Given the description of an element on the screen output the (x, y) to click on. 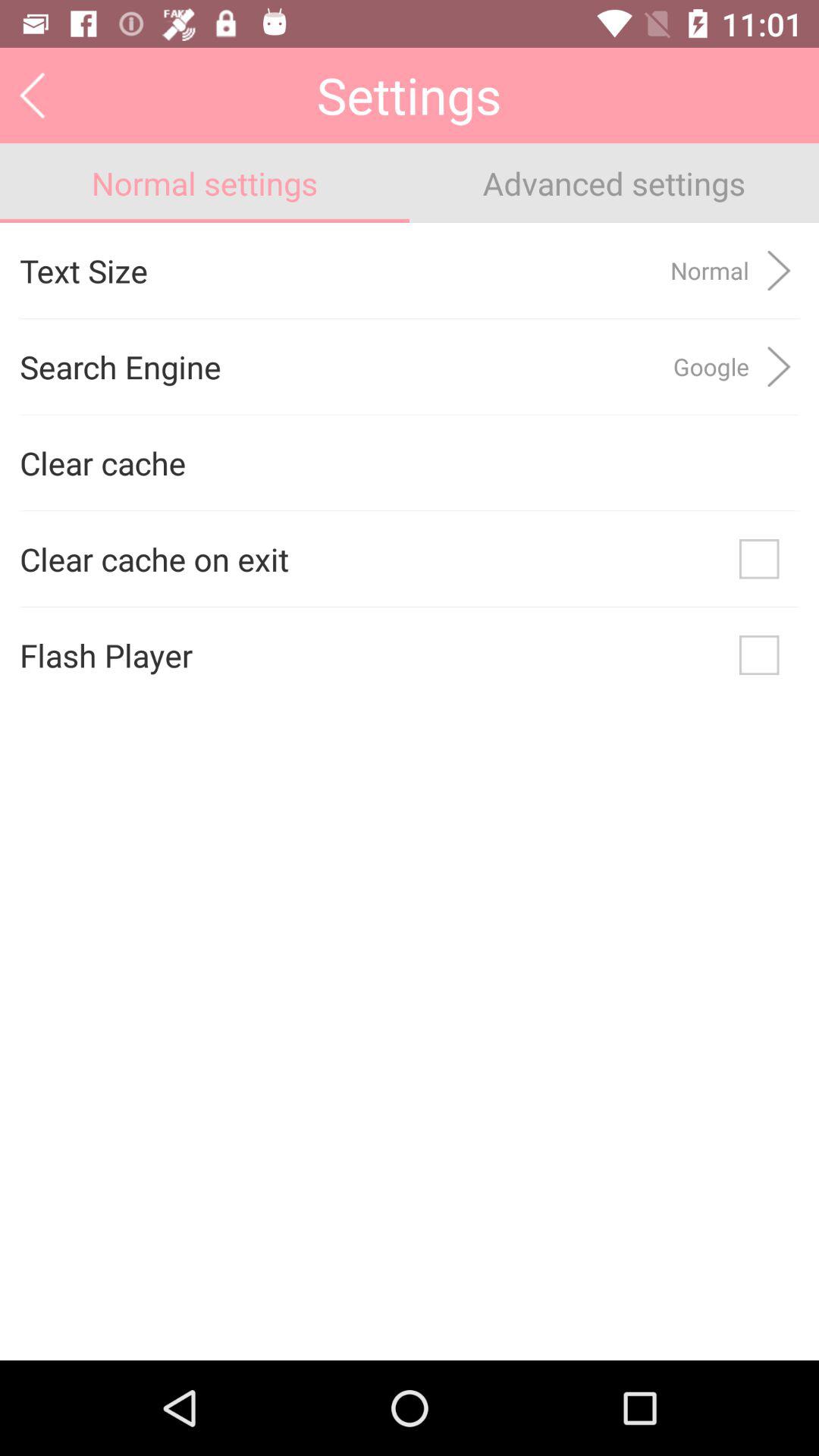
click icon next to flash player (759, 655)
